Given the description of an element on the screen output the (x, y) to click on. 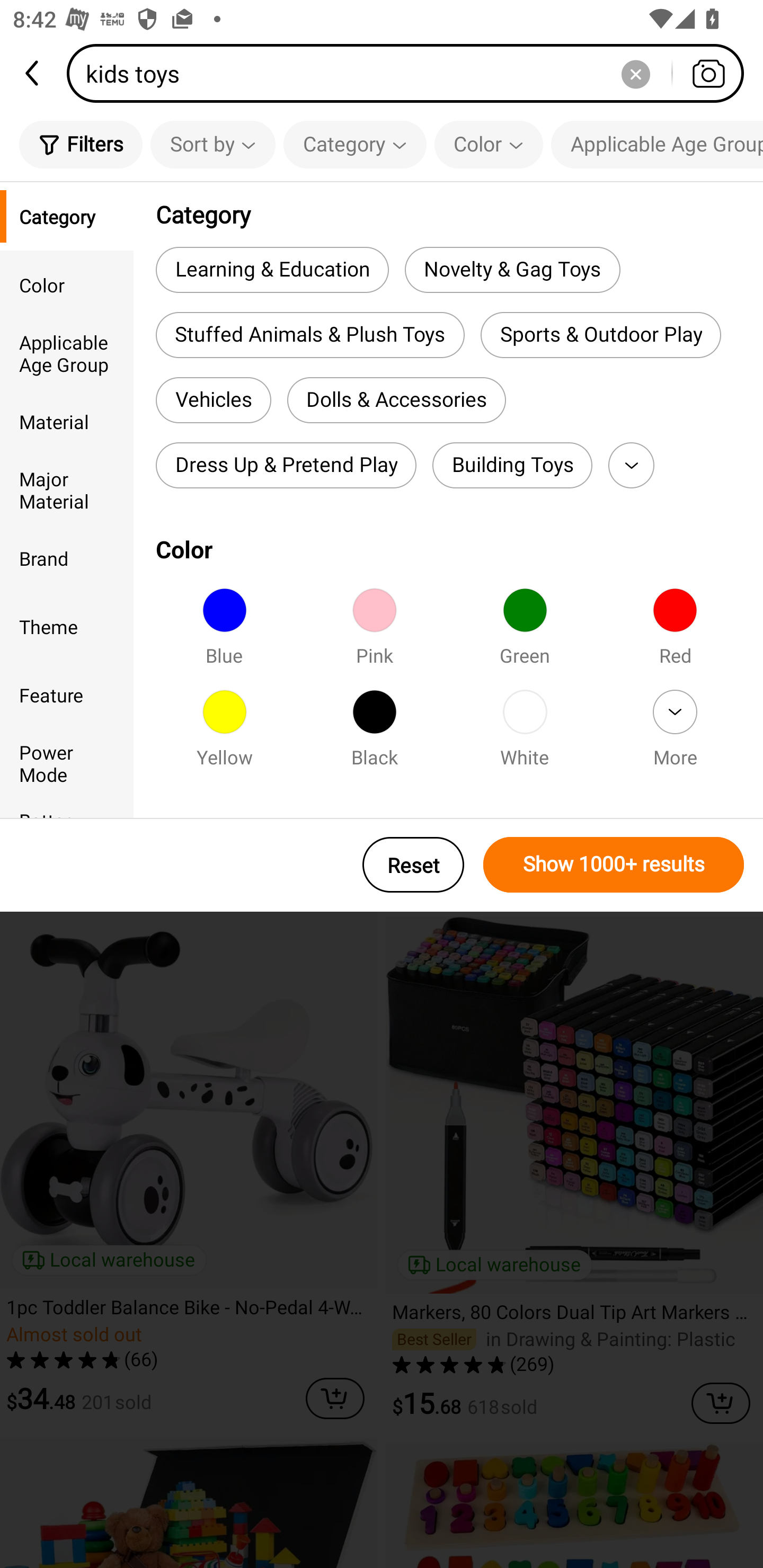
back (33, 72)
kids toys (411, 73)
Delete search history (635, 73)
Search by photo (708, 73)
Filters (80, 143)
Sort by (212, 143)
Category (354, 143)
Color (488, 143)
Applicable Age Group (656, 143)
Category (66, 215)
Learning & Education (272, 269)
Novelty & Gag Toys (512, 269)
Color (66, 284)
Stuffed Animals & Plush Toys (309, 334)
Sports & Outdoor Play (600, 334)
Applicable Age Group (66, 352)
Vehicles (213, 400)
Dolls & Accessories (395, 400)
Material (66, 421)
Dress Up & Pretend Play (285, 464)
Building Toys (512, 464)
More (631, 464)
Major Material (66, 489)
Brand (66, 557)
Theme (66, 626)
Feature (66, 694)
More (674, 734)
Power Mode (66, 762)
Reset (412, 864)
Show 1000+ results (612, 864)
